Given the description of an element on the screen output the (x, y) to click on. 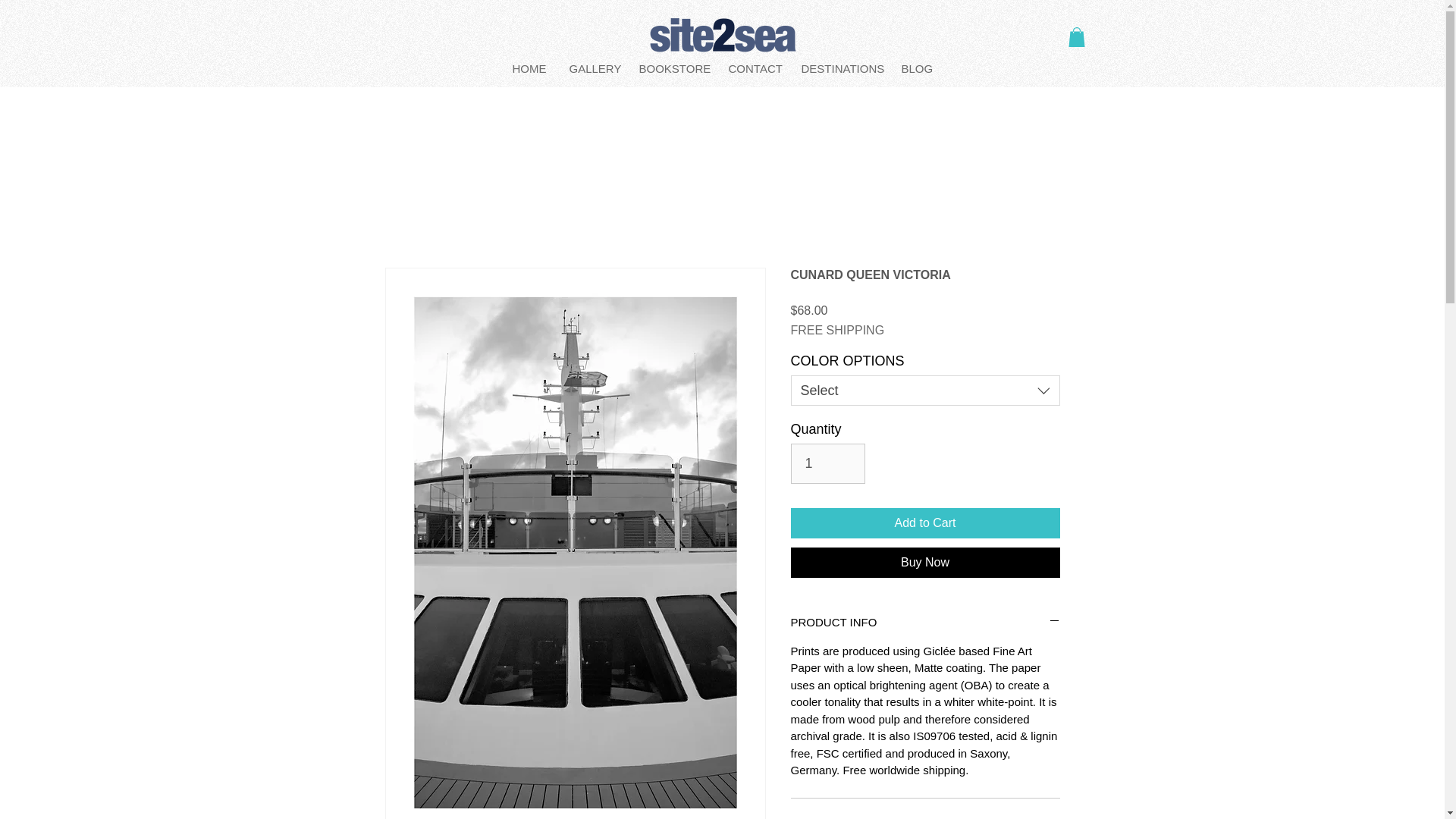
GALLERY (592, 68)
Buy Now (924, 562)
HOME (528, 68)
BOOKSTORE (672, 68)
CONTACT (753, 68)
DESTINATIONS (839, 68)
FREE SHIPPING (836, 330)
BLOG (916, 68)
PRODUCT INFO (924, 621)
Select (924, 390)
1 (827, 463)
Add to Cart (924, 522)
